Given the description of an element on the screen output the (x, y) to click on. 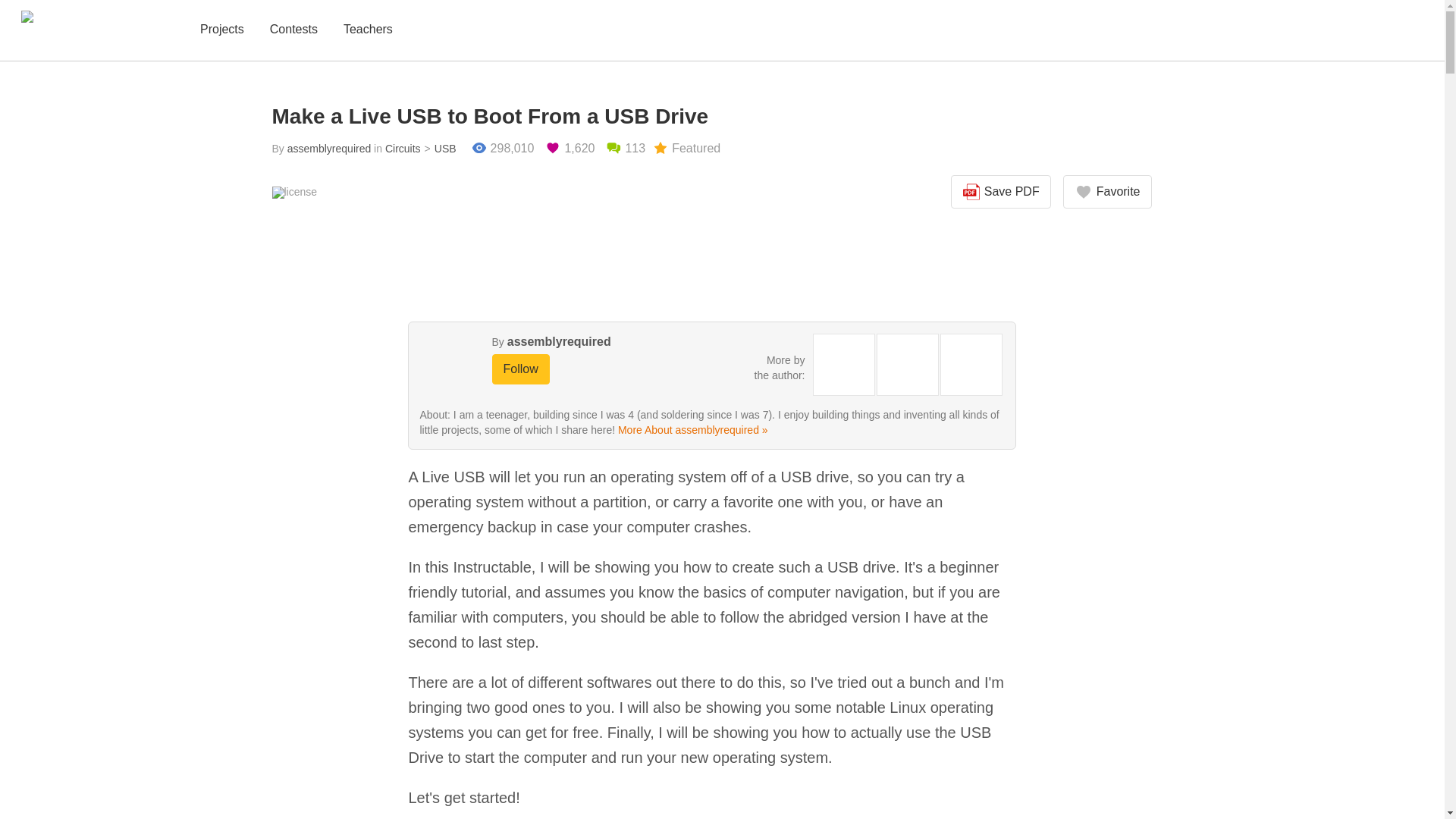
Projects (221, 30)
USB (438, 148)
Teachers (368, 30)
assemblyrequired (558, 341)
Circuits (402, 148)
Contests (293, 30)
113 (625, 148)
Follow (520, 368)
assemblyrequired (328, 148)
Favorite (1106, 191)
